Given the description of an element on the screen output the (x, y) to click on. 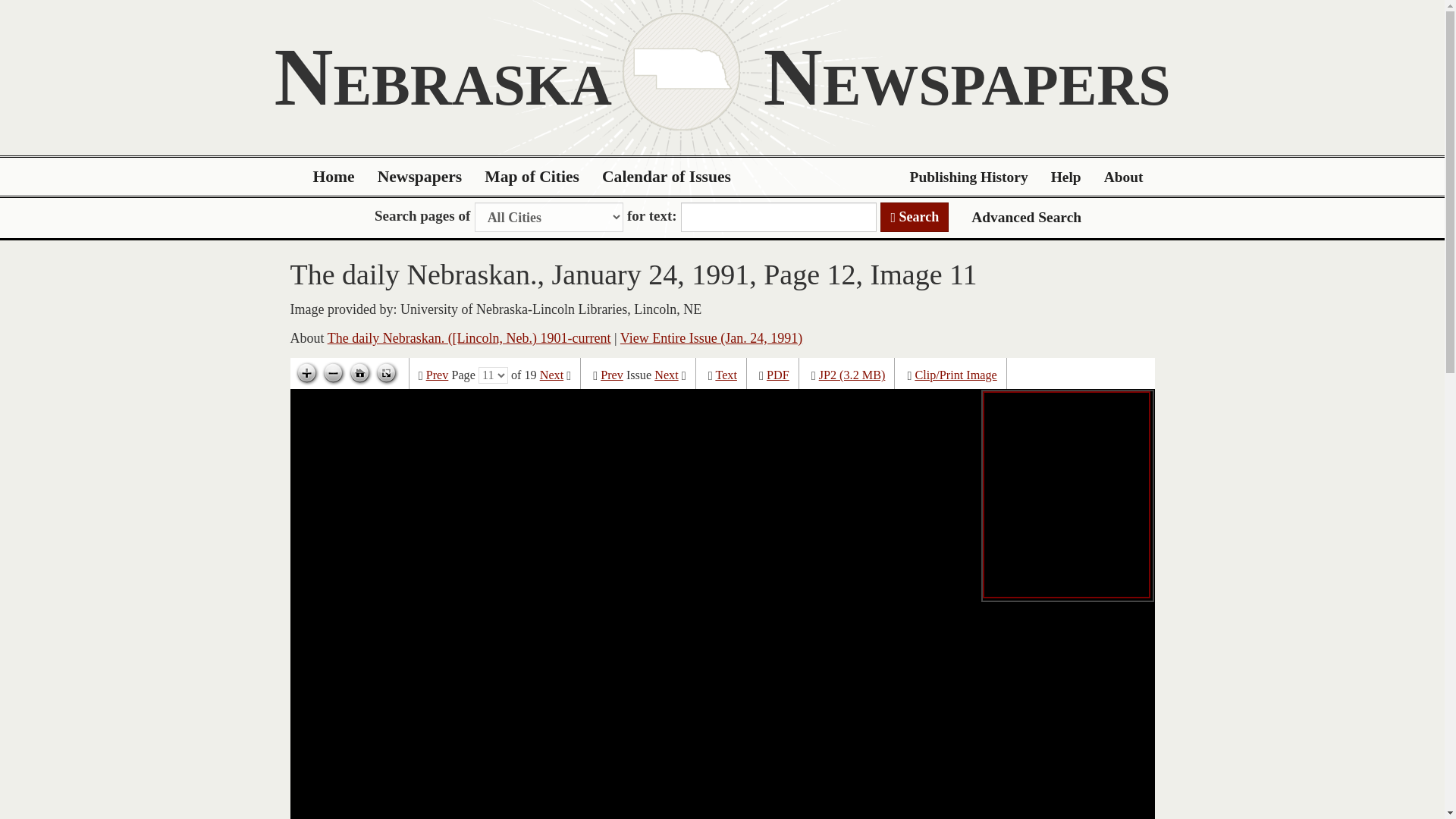
Help (1066, 176)
Zoom in (307, 373)
PDF (778, 375)
About (1123, 176)
Map of Cities (532, 176)
Text (725, 375)
Calendar of Issues (666, 176)
Newspapers (420, 176)
Prev (437, 375)
Search (914, 217)
